Given the description of an element on the screen output the (x, y) to click on. 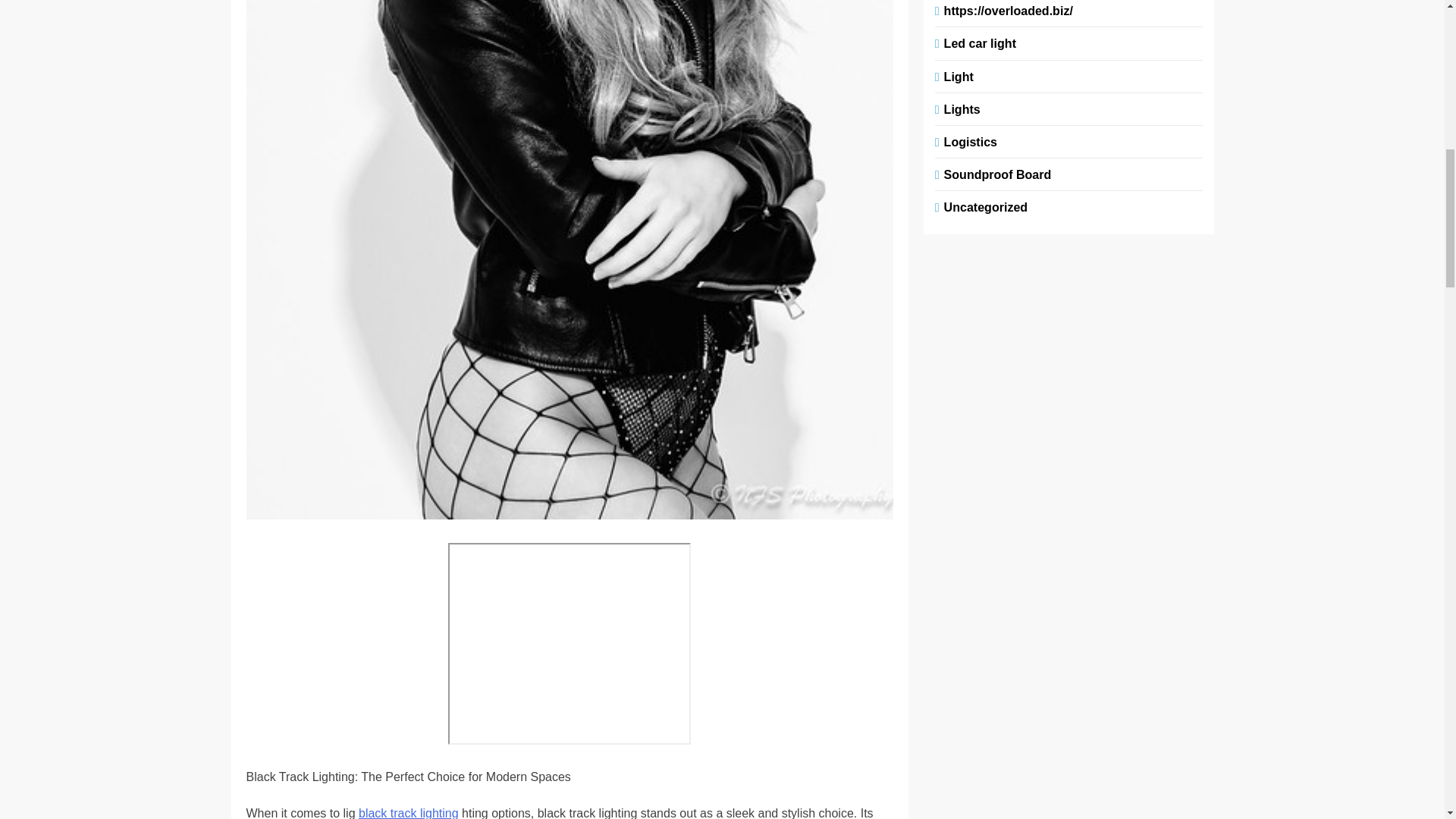
black track lighting (408, 812)
